Given the description of an element on the screen output the (x, y) to click on. 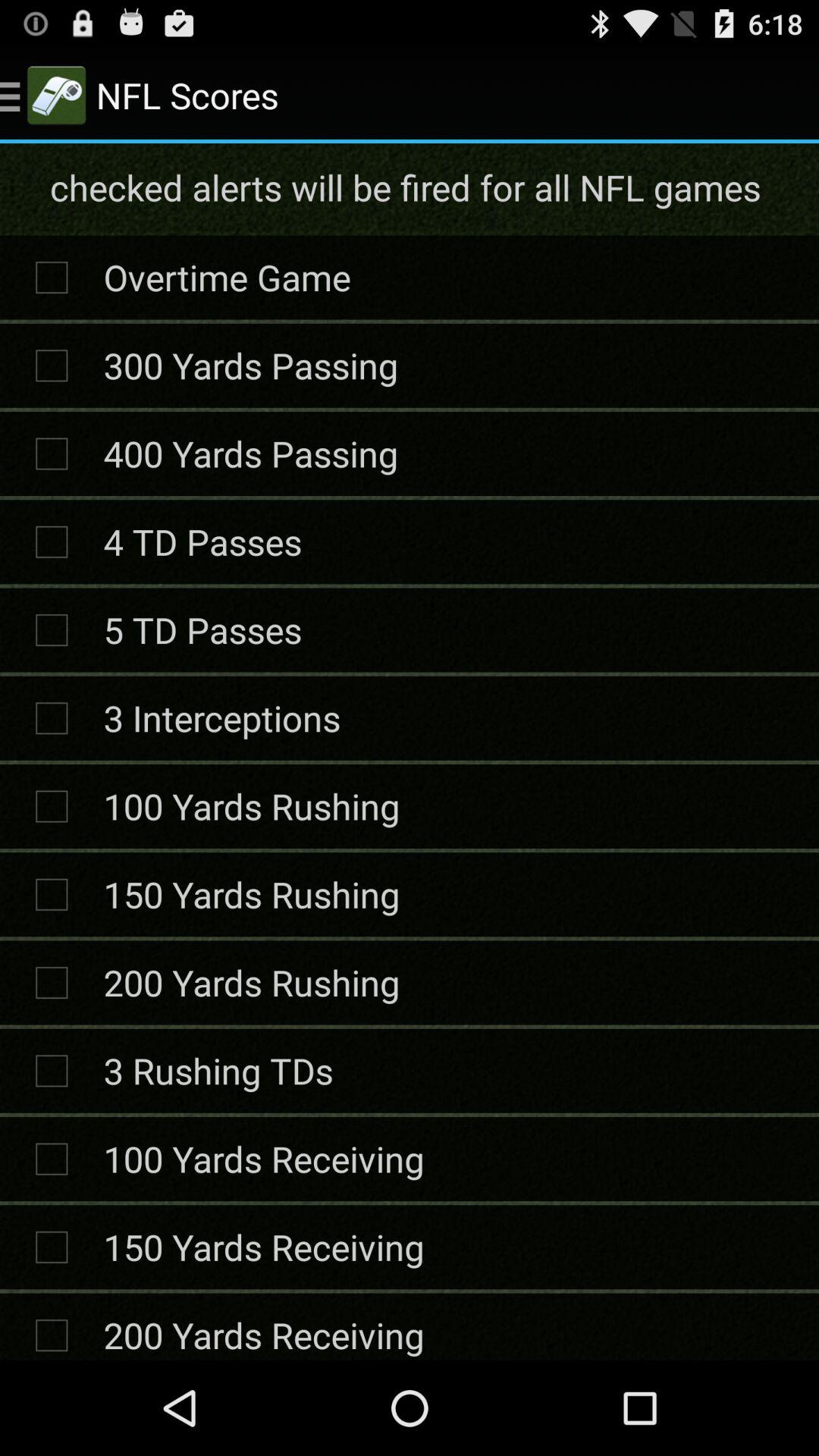
click the app below the checked alerts will item (226, 277)
